Given the description of an element on the screen output the (x, y) to click on. 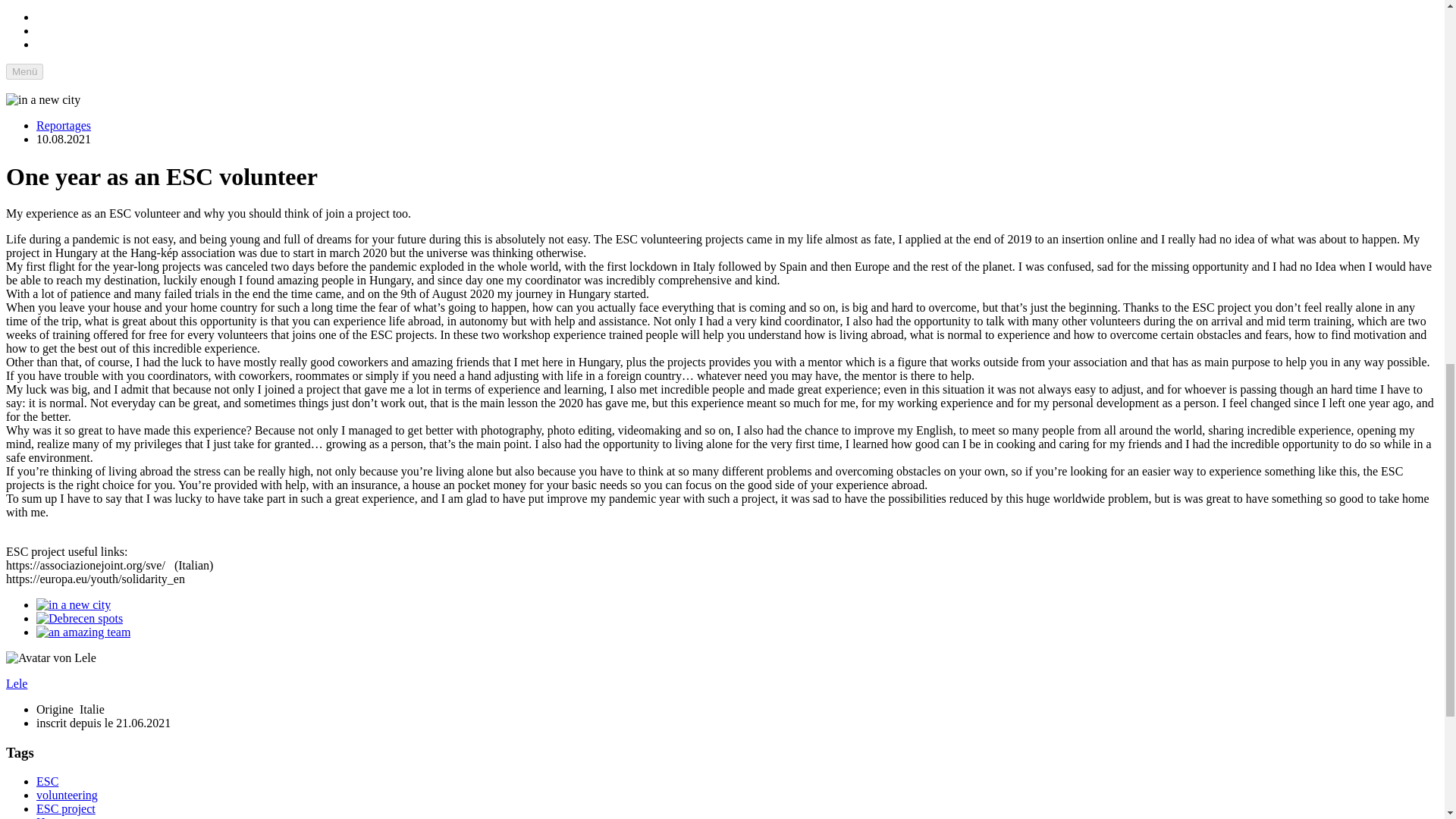
Debrecen spots (79, 617)
in a new city (73, 604)
Reportages (63, 124)
ESC (47, 780)
Lele (16, 683)
Hungary (57, 817)
ESC project (66, 808)
an amazing team (83, 631)
volunteering (66, 794)
